Given the description of an element on the screen output the (x, y) to click on. 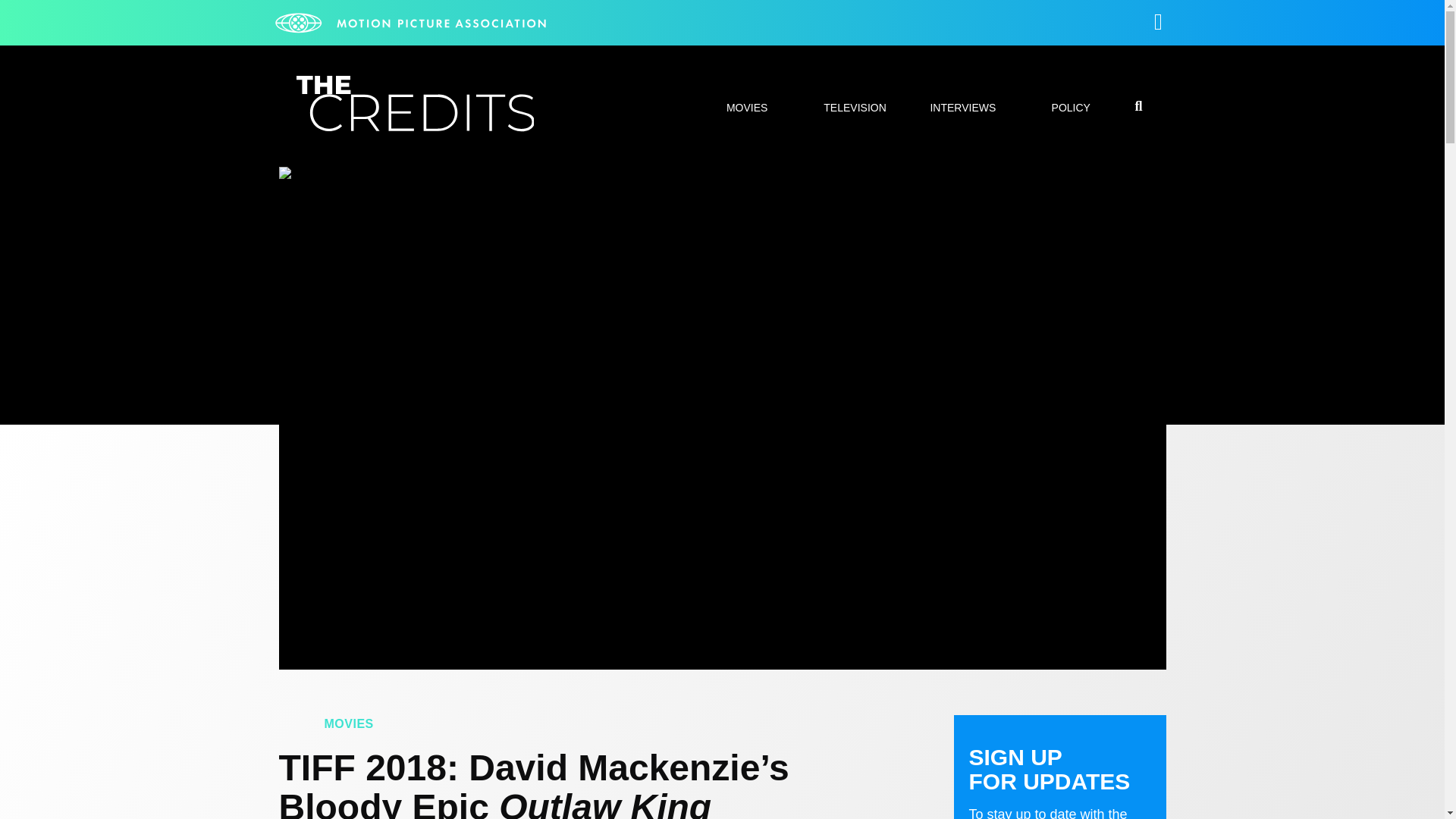
Search (1077, 408)
